Given the description of an element on the screen output the (x, y) to click on. 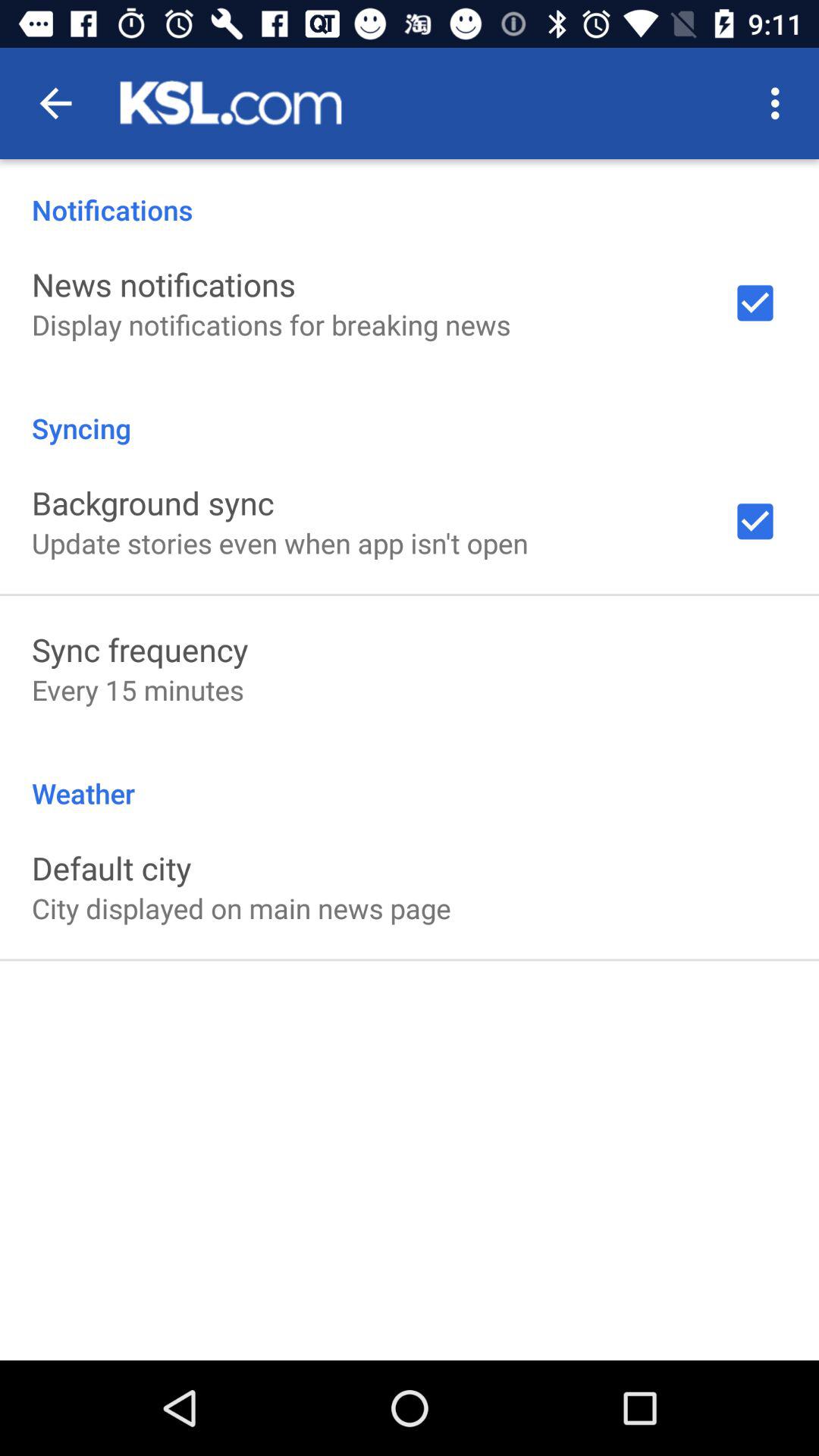
choose the default city item (111, 867)
